Given the description of an element on the screen output the (x, y) to click on. 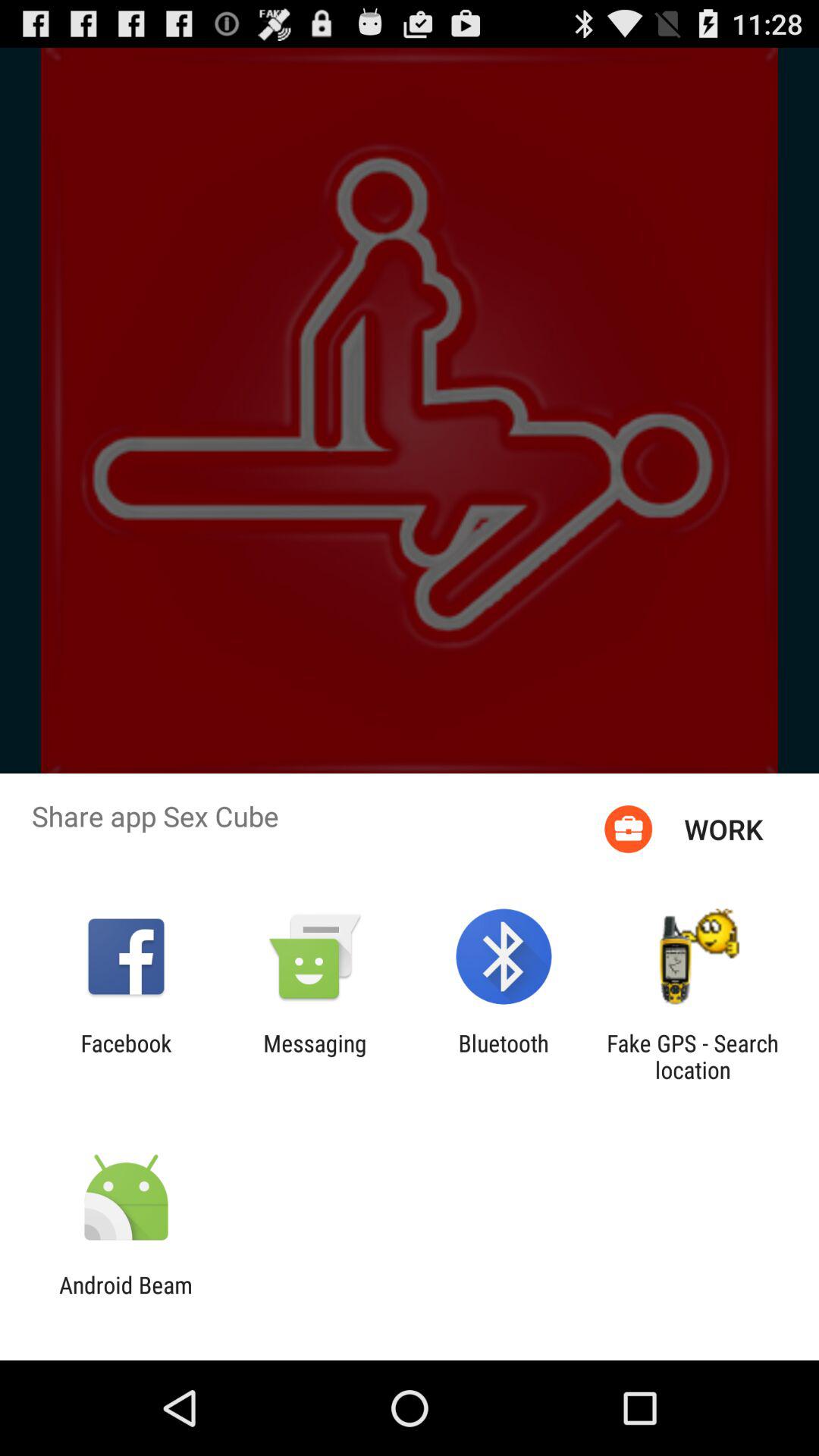
press item to the left of the bluetooth icon (314, 1056)
